Given the description of an element on the screen output the (x, y) to click on. 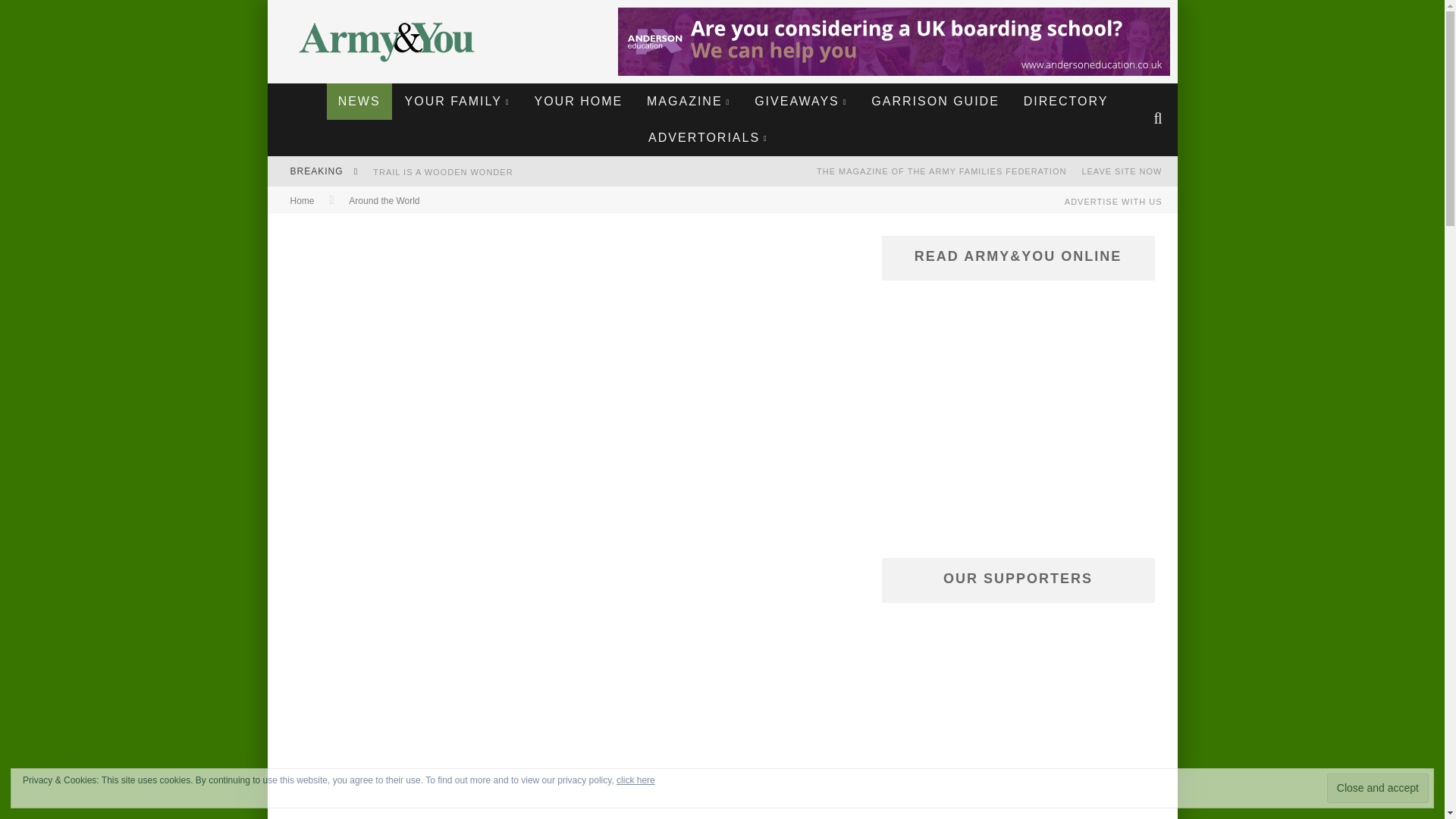
View all posts in Around the World (384, 200)
NEWS (358, 101)
Close and accept (1377, 788)
Trail is a wooden wonder (442, 171)
